Given the description of an element on the screen output the (x, y) to click on. 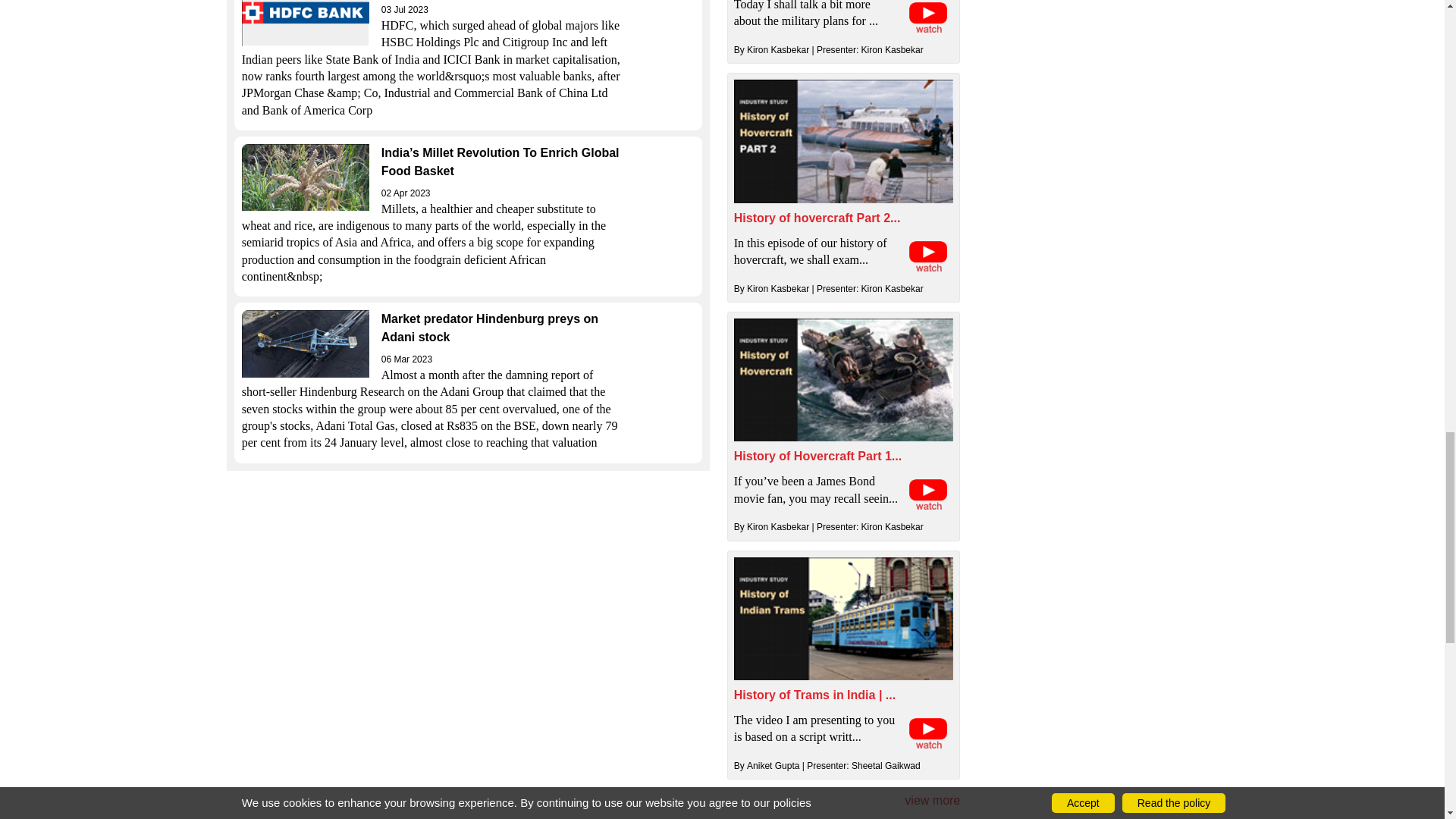
Click here to watch on YouTube (927, 494)
Click here to watch on YouTube (927, 255)
Click here to watch on YouTube (927, 17)
